Given the description of an element on the screen output the (x, y) to click on. 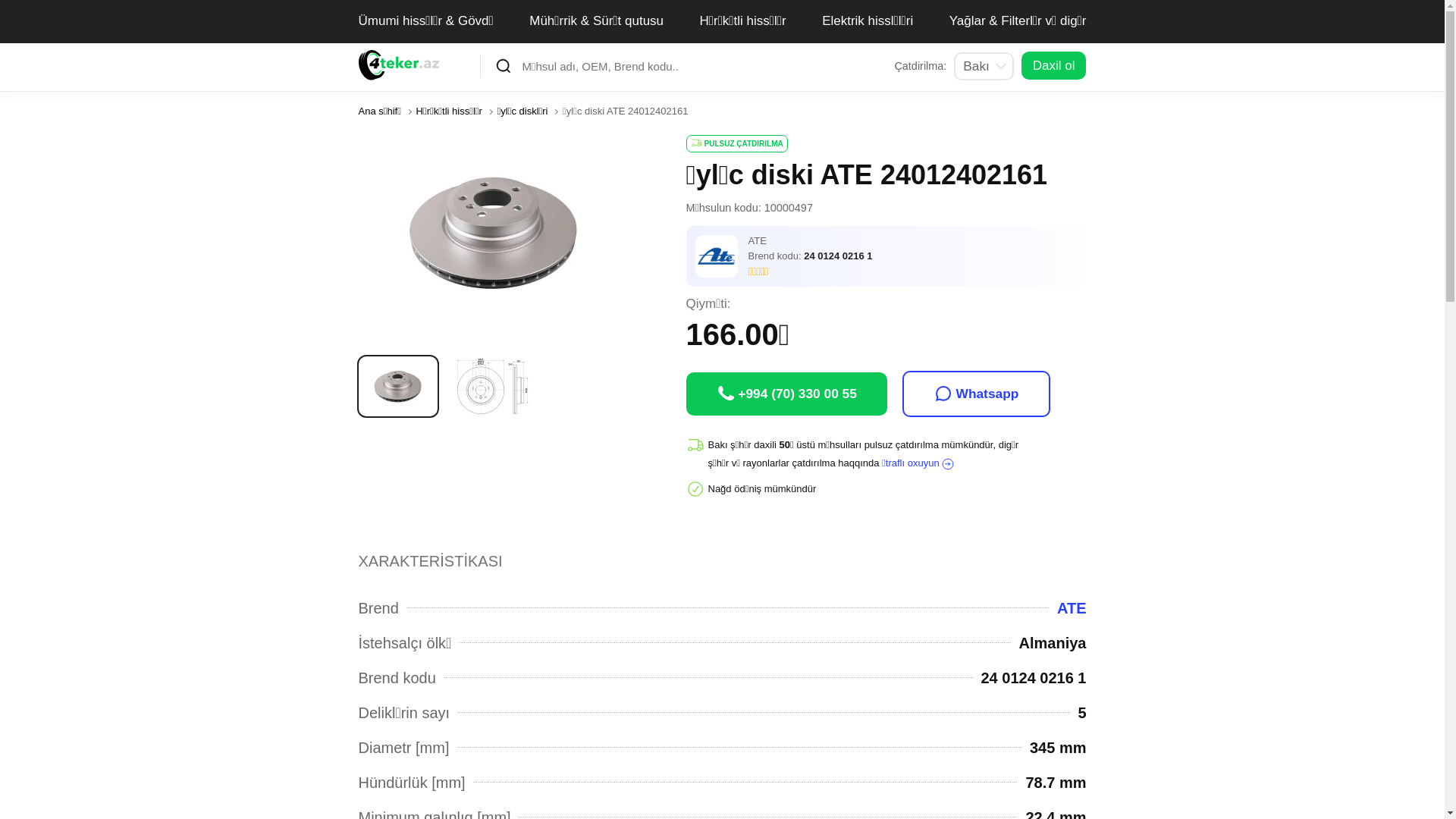
Daxil ol Element type: text (1053, 65)
Whatsapp Element type: text (976, 393)
ATE Element type: text (1067, 607)
+994 (70) 330 00 55 Element type: text (785, 393)
